Given the description of an element on the screen output the (x, y) to click on. 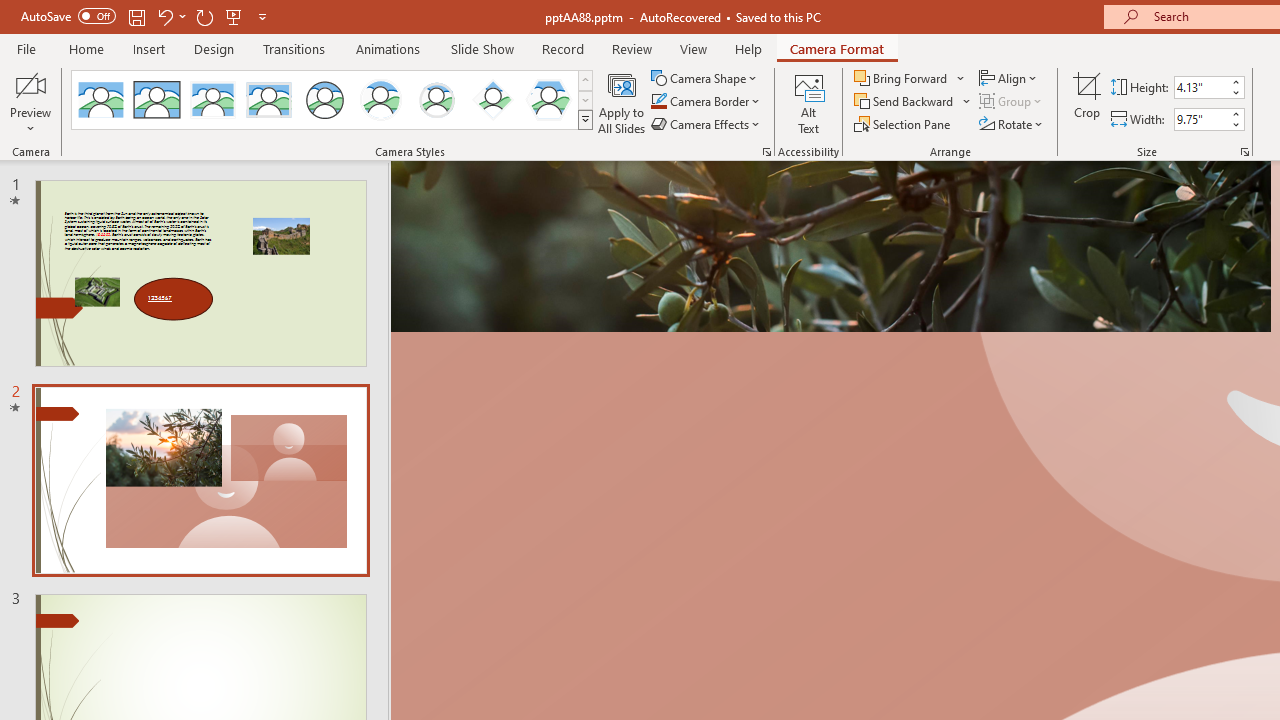
Cameo Height (1201, 87)
Size and Position... (1244, 151)
More (1235, 113)
Camera Styles (585, 120)
Camera Format (836, 48)
Simple Frame Circle (324, 100)
